Given the description of an element on the screen output the (x, y) to click on. 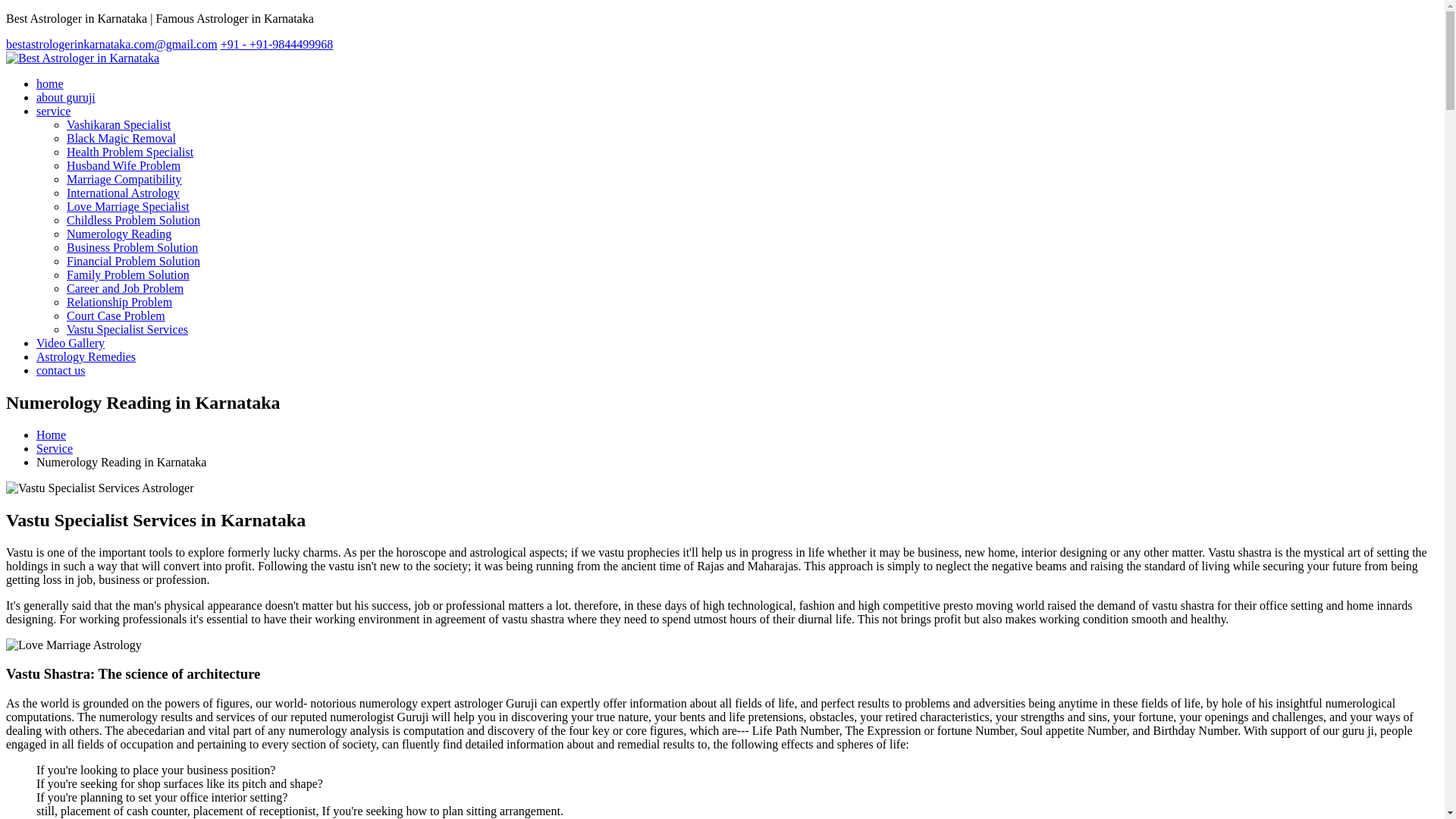
Home (50, 434)
Childless Problem Solution (133, 219)
Numerology Reading (118, 233)
Home (50, 83)
Family Problem Solution (127, 274)
Health Problem Specialist (129, 151)
Court Case Problem (126, 328)
Health Problem Specialist (129, 151)
Business Problem Solution (132, 246)
Financial Problem Solution (133, 260)
